Given the description of an element on the screen output the (x, y) to click on. 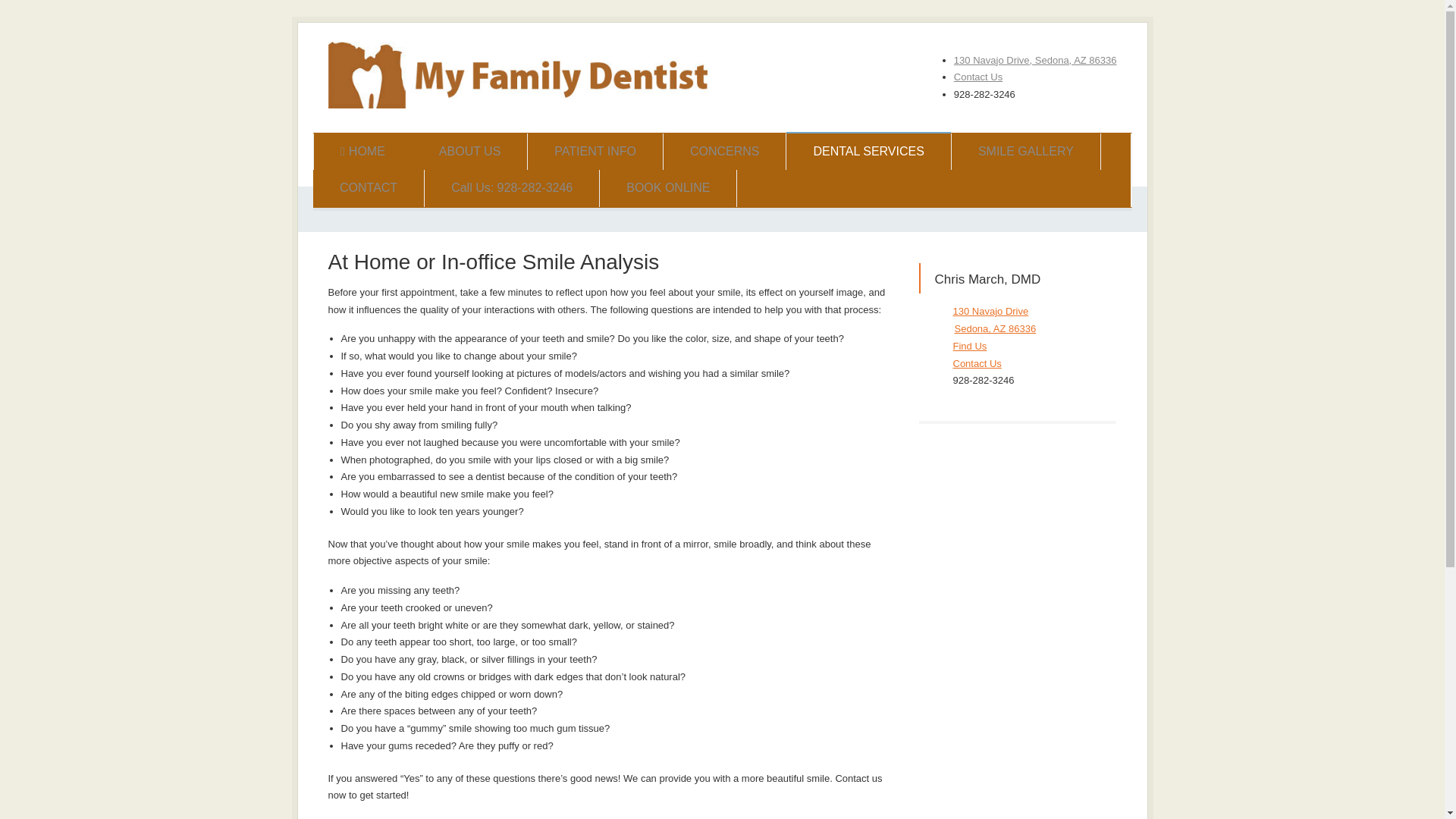
HOME (363, 151)
CONCERNS (724, 151)
PATIENT INFO (594, 151)
Sedona AZ Dentist -Chris Marsh DMD (520, 104)
ABOUT US (469, 151)
